Given the description of an element on the screen output the (x, y) to click on. 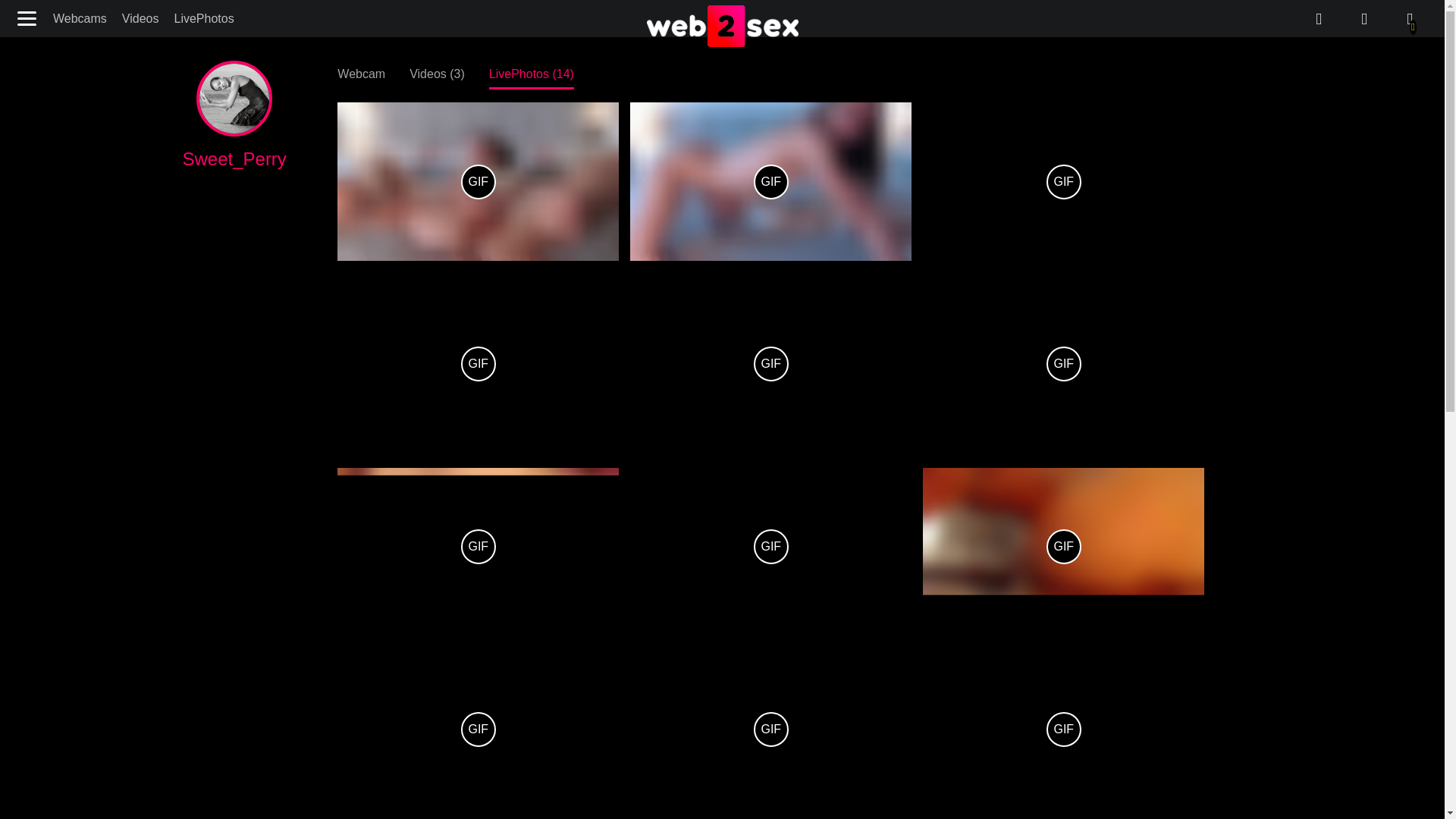
Webcam (361, 73)
Webcams (80, 18)
favorite (1317, 19)
LivePhotos (203, 18)
Menu (28, 18)
web2sex.com Sex Chat and Live XXX Porn Shows (721, 26)
live photos (1363, 19)
Videos (141, 18)
profile (1409, 19)
